Given the description of an element on the screen output the (x, y) to click on. 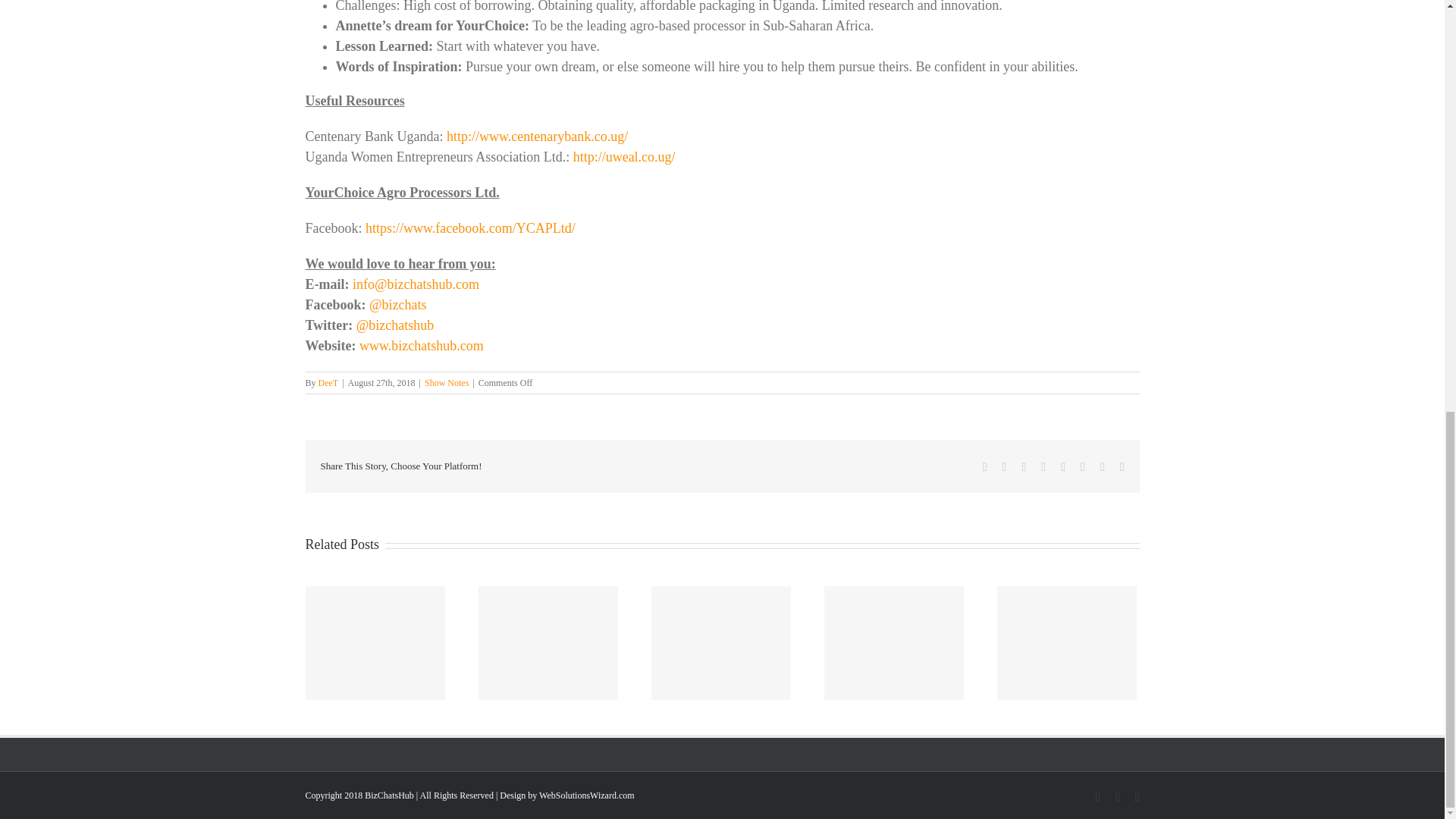
www.bizchatshub.com (421, 345)
Posts by DeeT (328, 382)
DeeT (328, 382)
Show Notes (446, 382)
